Given the description of an element on the screen output the (x, y) to click on. 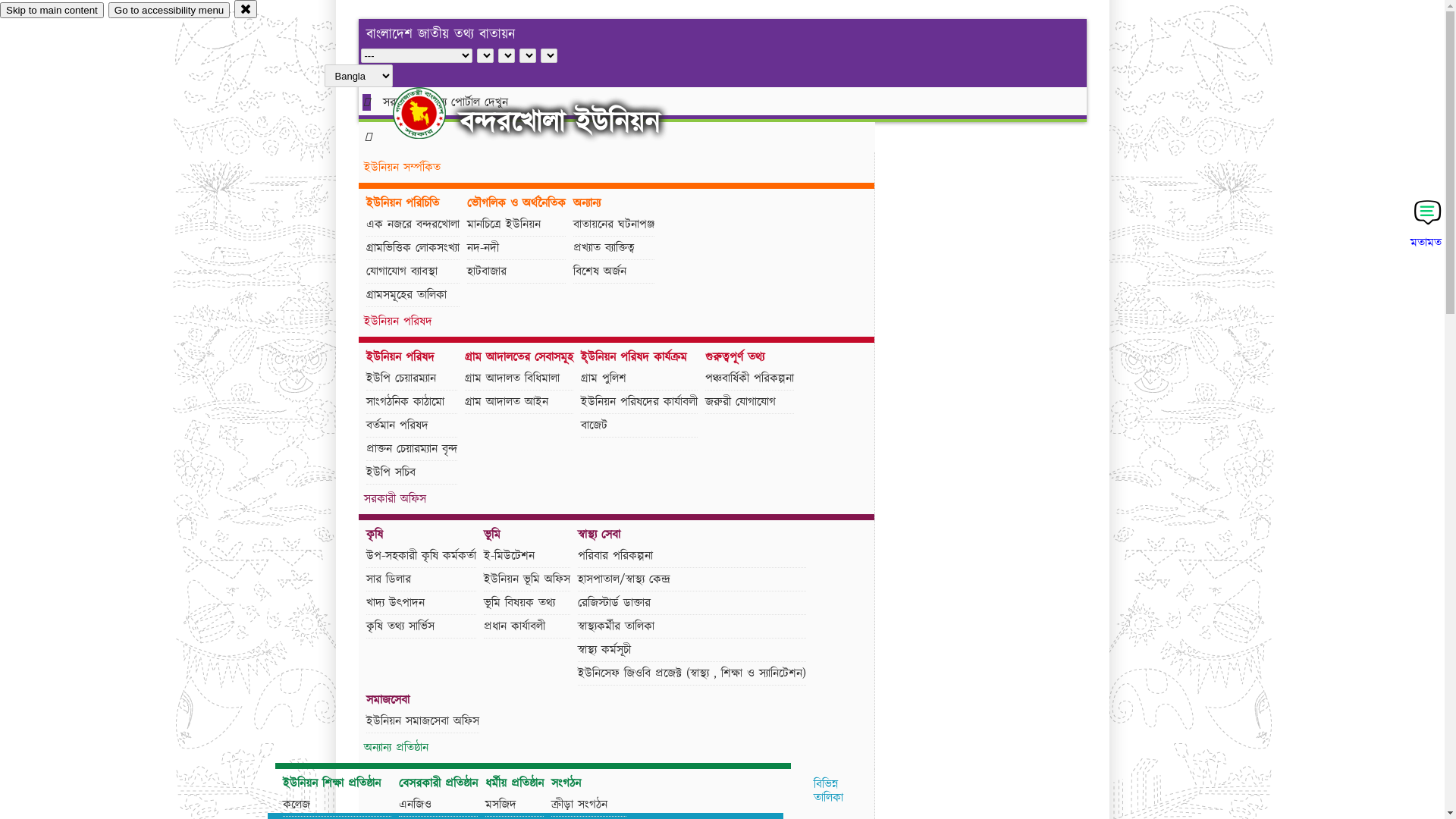
Skip to main content Element type: text (51, 10)
close Element type: hover (245, 9)

                
             Element type: hover (431, 112)
Go to accessibility menu Element type: text (168, 10)
